Given the description of an element on the screen output the (x, y) to click on. 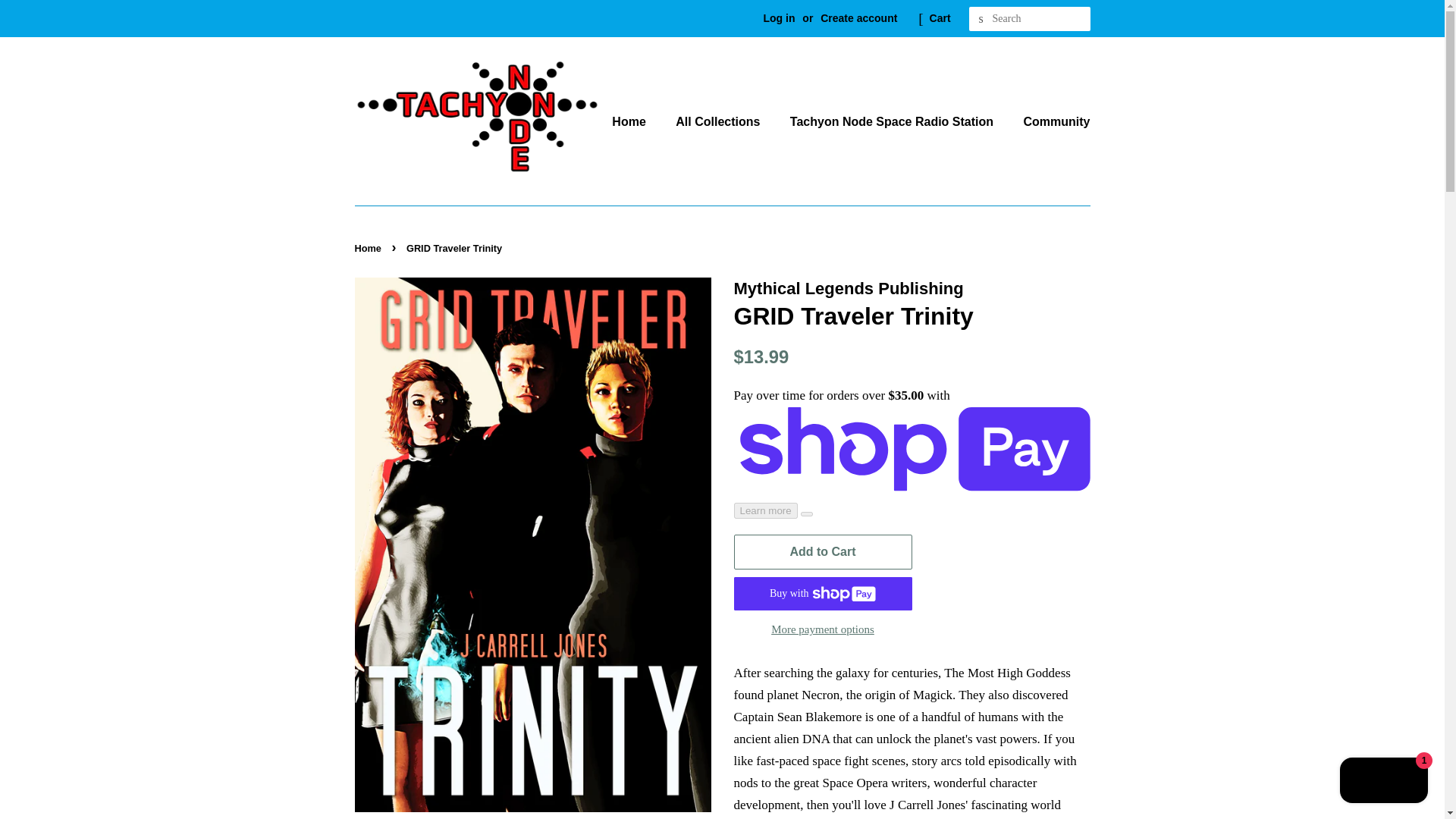
Add to Cart (822, 552)
All Collections (718, 121)
Community (1050, 121)
Cart (940, 18)
Log in (778, 18)
Tachyon Node Space Radio Station (893, 121)
Home (636, 121)
Search (980, 18)
Back to the frontpage (370, 247)
More payment options (822, 628)
Create account (858, 18)
Shopify online store chat (1383, 781)
Home (370, 247)
